Given the description of an element on the screen output the (x, y) to click on. 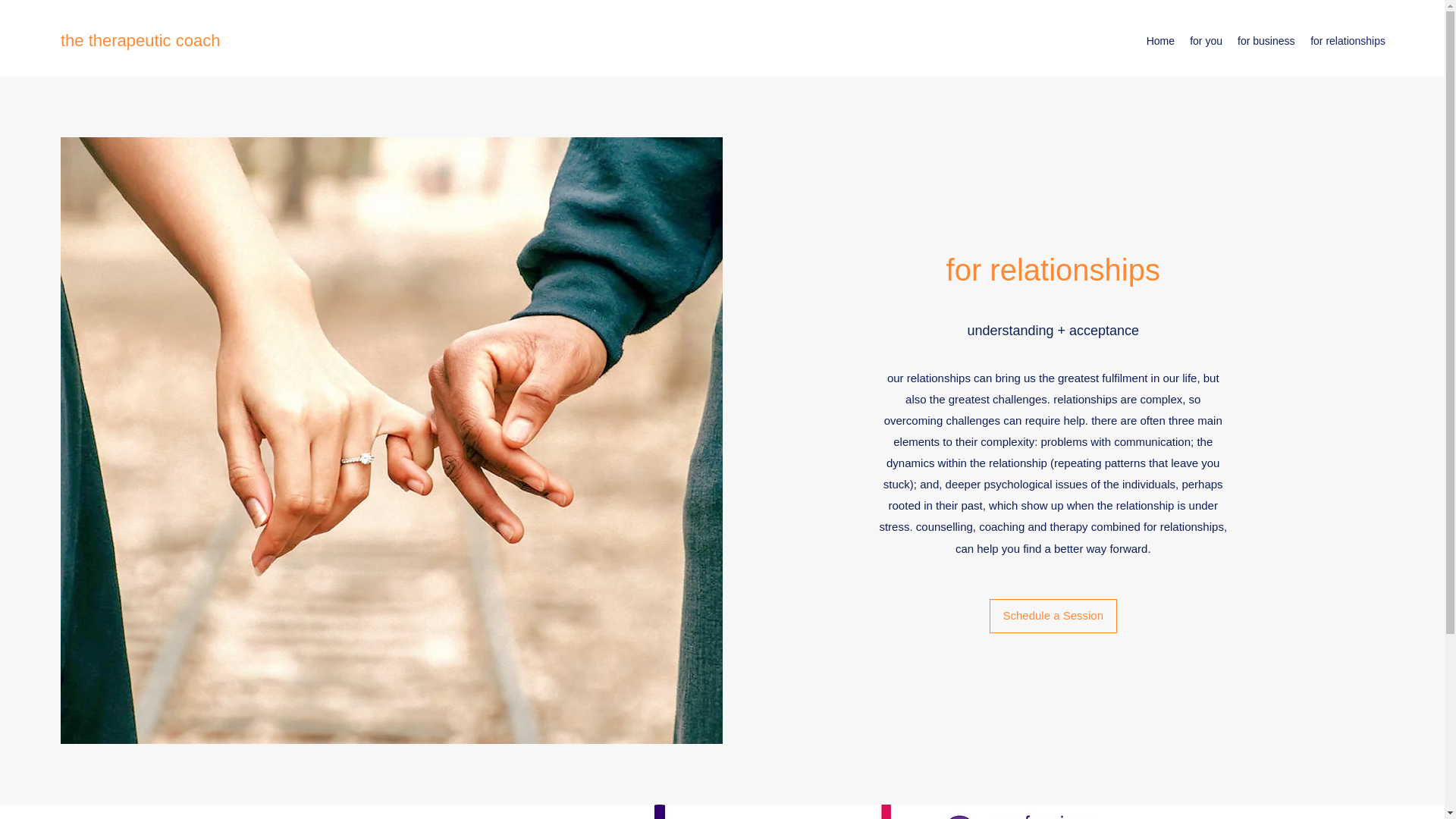
for business (1265, 40)
for relationships (1347, 40)
Schedule a Session (1053, 615)
for you (1206, 40)
the therapeutic coach (140, 40)
Home (1160, 40)
